Given the description of an element on the screen output the (x, y) to click on. 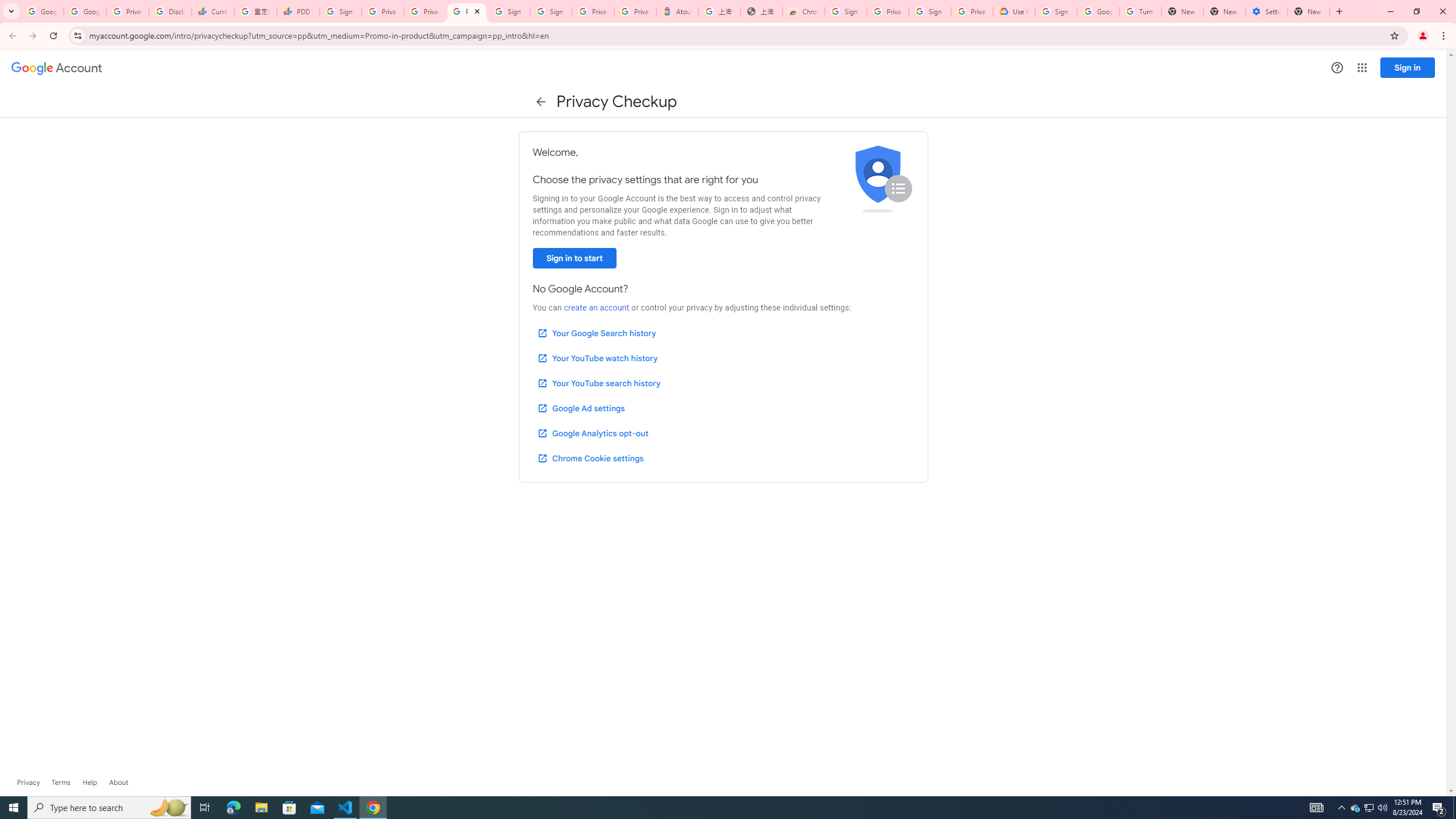
Settings - System (1266, 11)
Chrome Cookie settings (589, 457)
Turn cookies on or off - Computer - Google Account Help (1139, 11)
Google Workspace Admin Community (42, 11)
Your YouTube watch history (597, 358)
Privacy Checkup (424, 11)
Your Google Search history (596, 332)
Your YouTube search history (598, 383)
Google Ad settings (580, 408)
Sign in to start (573, 258)
